Given the description of an element on the screen output the (x, y) to click on. 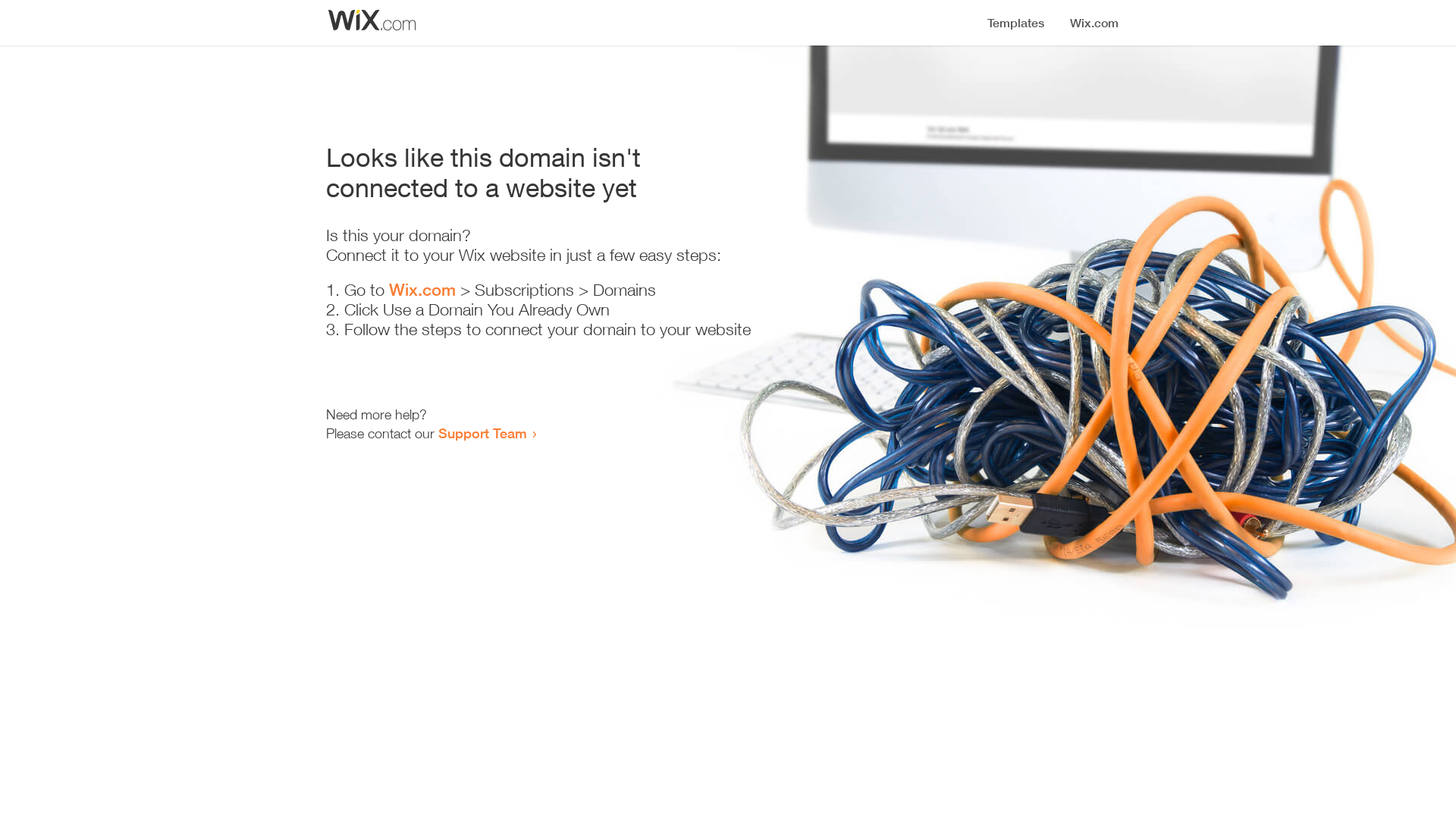
Support Team Element type: text (482, 432)
Wix.com Element type: text (422, 289)
